Given the description of an element on the screen output the (x, y) to click on. 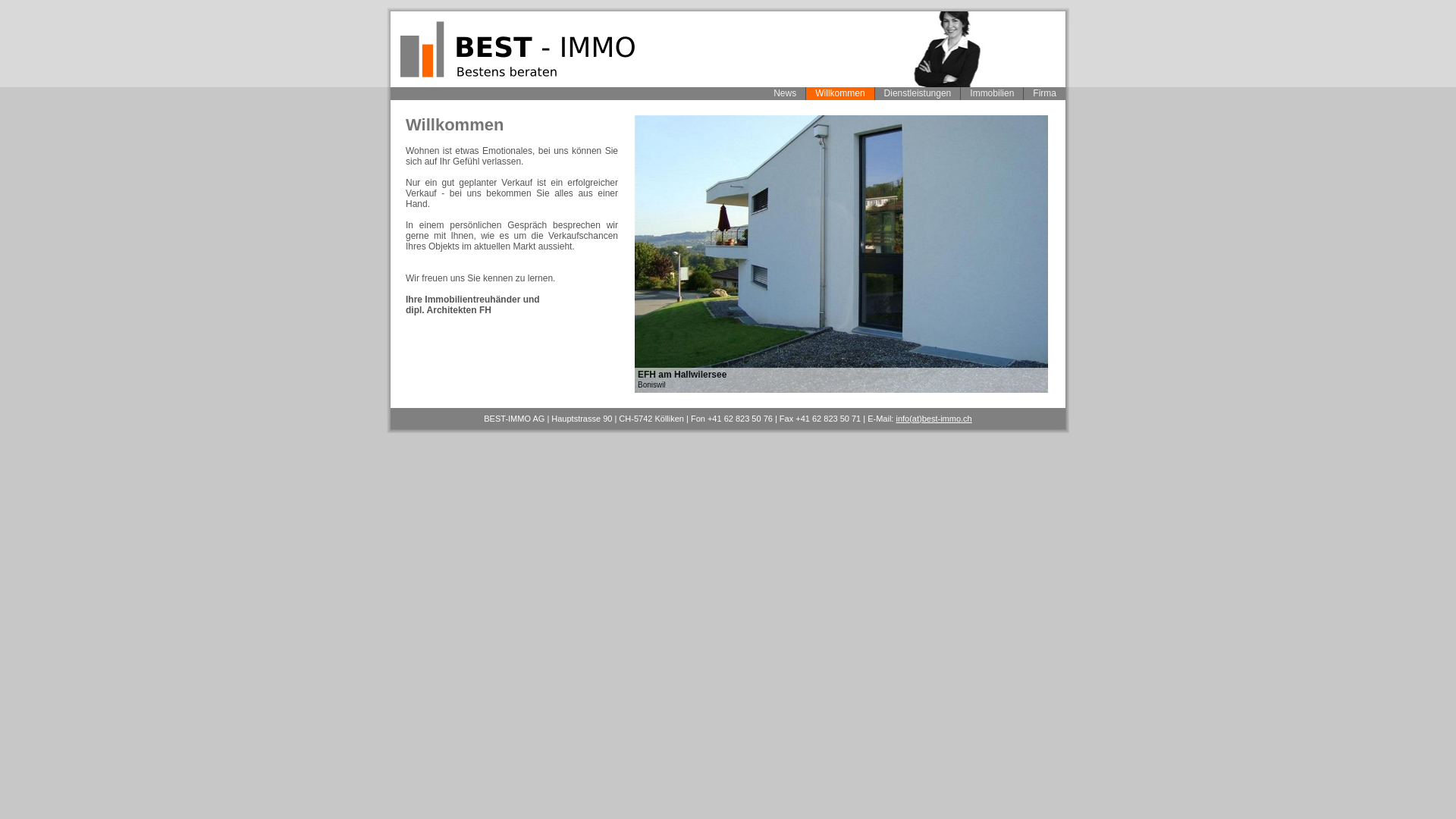
info(at)best-immo.ch Element type: text (933, 418)
Dienstleistungen Element type: text (917, 93)
EFH am Hallwilersee Element type: hover (841, 253)
Immobilien Element type: text (991, 93)
Firma Element type: text (1044, 93)
Willkommen Element type: text (839, 93)
News Element type: text (784, 93)
